Given the description of an element on the screen output the (x, y) to click on. 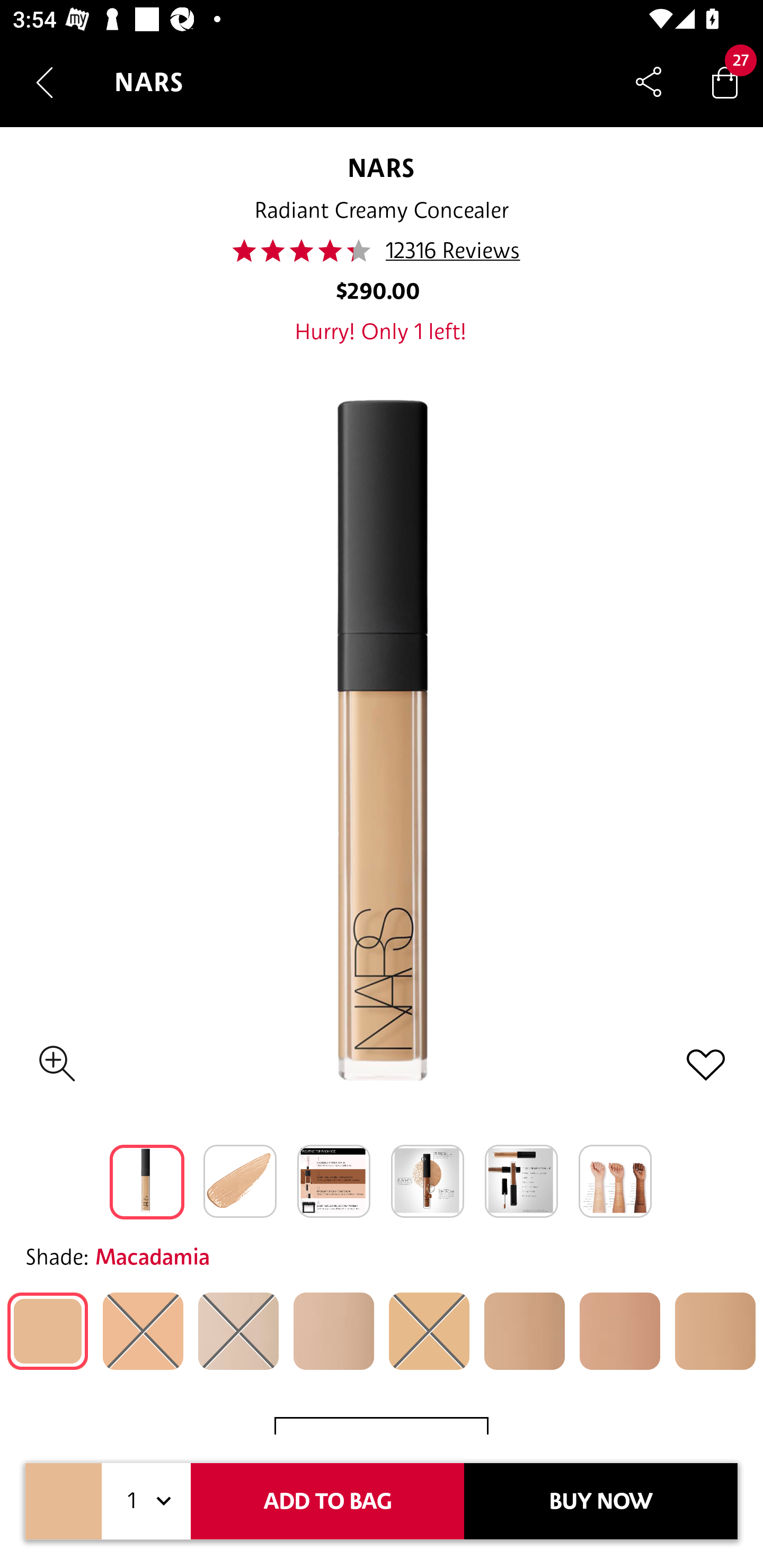
Navigate up (44, 82)
Share (648, 81)
Bag (724, 81)
NARS (380, 167)
43.0 12316 Reviews (381, 250)
1 (145, 1500)
ADD TO BAG (326, 1500)
BUY NOW (600, 1500)
